Given the description of an element on the screen output the (x, y) to click on. 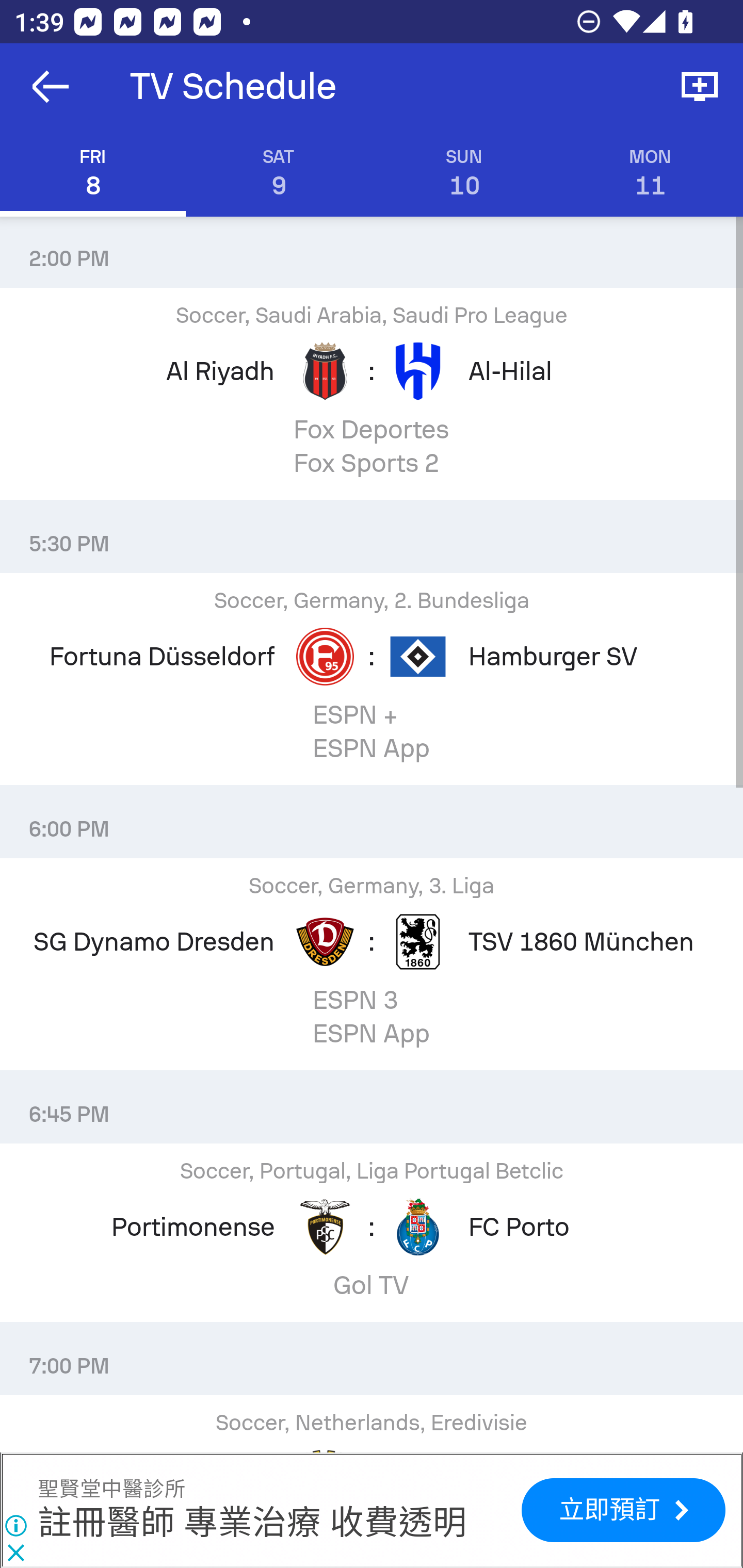
Navigate up (50, 86)
Edit channels (699, 86)
SAT 9 (278, 173)
SUN 10 (464, 173)
MON 11 (650, 173)
2:00 PM (371, 250)
5:30 PM (371, 535)
6:00 PM (371, 821)
6:45 PM (371, 1106)
7:00 PM (371, 1357)
Soccer, Netherlands, Eredivisie (371, 1423)
聖賢堂中醫診所 (111, 1489)
立即預訂 (623, 1510)
註冊醫師 專業治療 收費透明 (252, 1523)
